Given the description of an element on the screen output the (x, y) to click on. 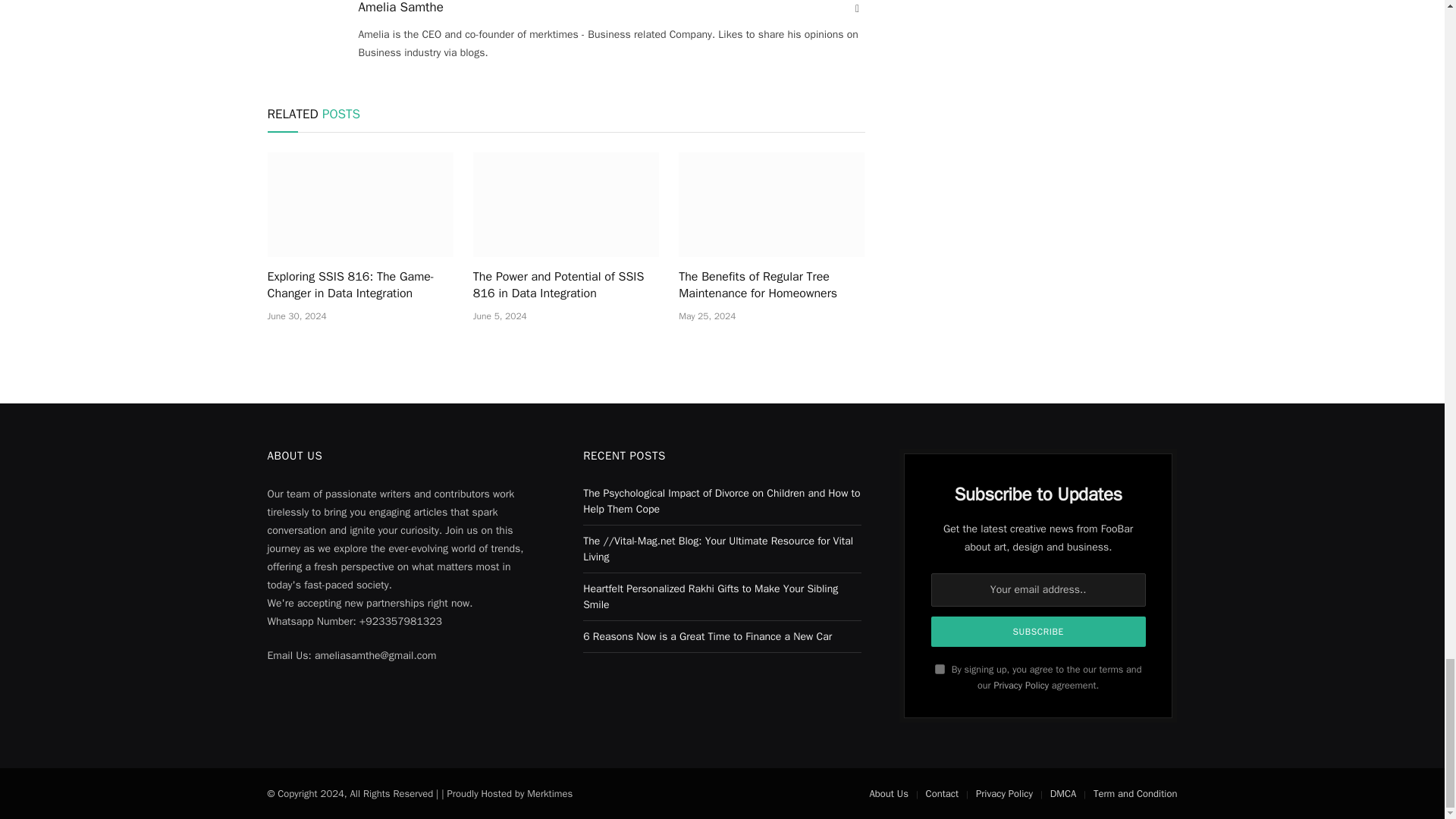
6 Reasons Now is a Great Time to Finance a New Car (707, 635)
Website (856, 8)
The Power and Potential of SSIS 816 in Data Integration (566, 285)
Privacy Policy (1020, 685)
Subscribe (1038, 631)
Amelia Samthe (400, 7)
Exploring SSIS 816: The Game-Changer in Data Integration (359, 285)
About Us (888, 793)
